Given the description of an element on the screen output the (x, y) to click on. 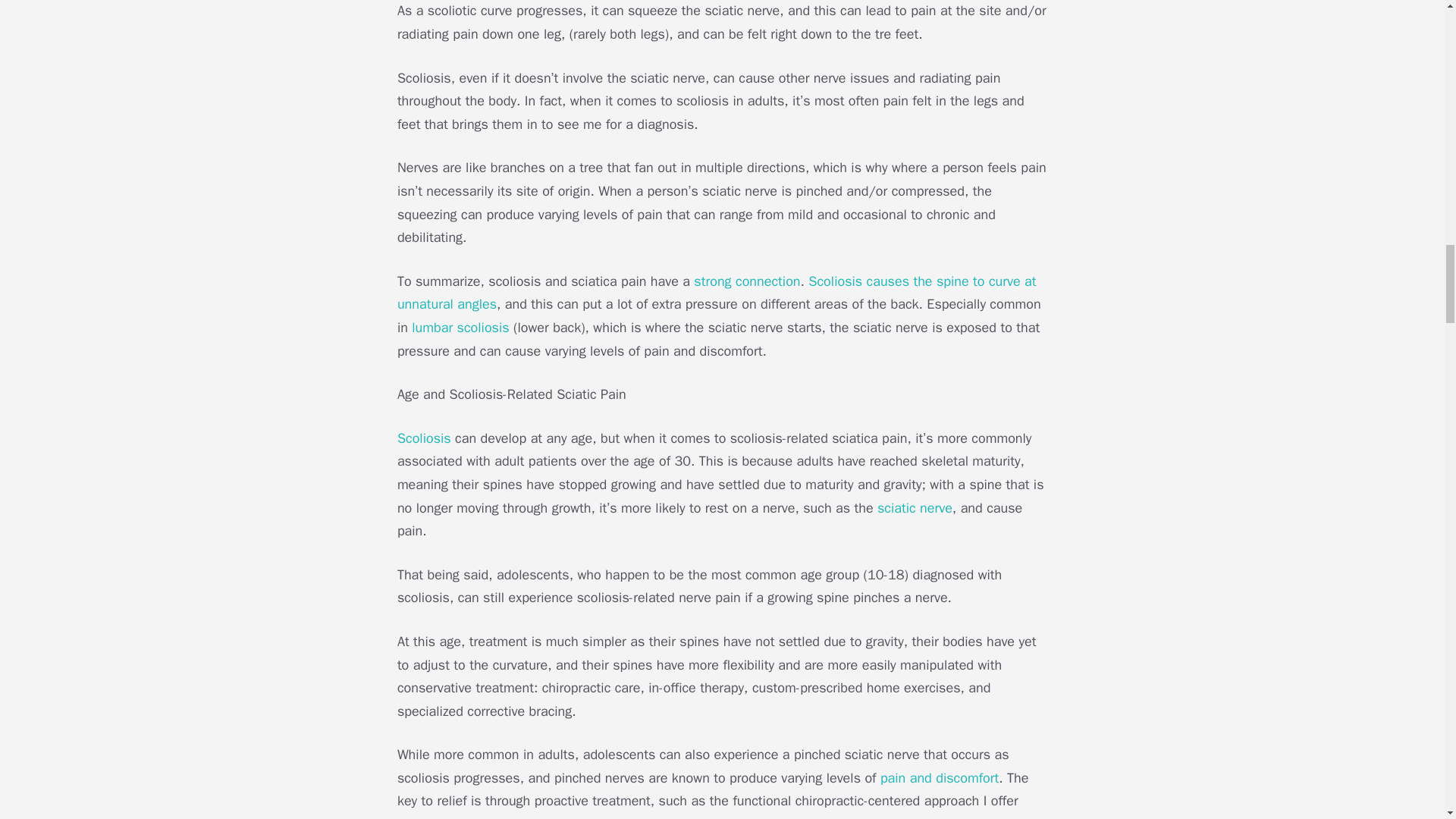
Scoliosis causes the spine to curve at unnatural angles (716, 292)
sciatic nerve (914, 507)
Scoliosis (424, 437)
lumbar scoliosis (460, 327)
strong connection (746, 280)
